Given the description of an element on the screen output the (x, y) to click on. 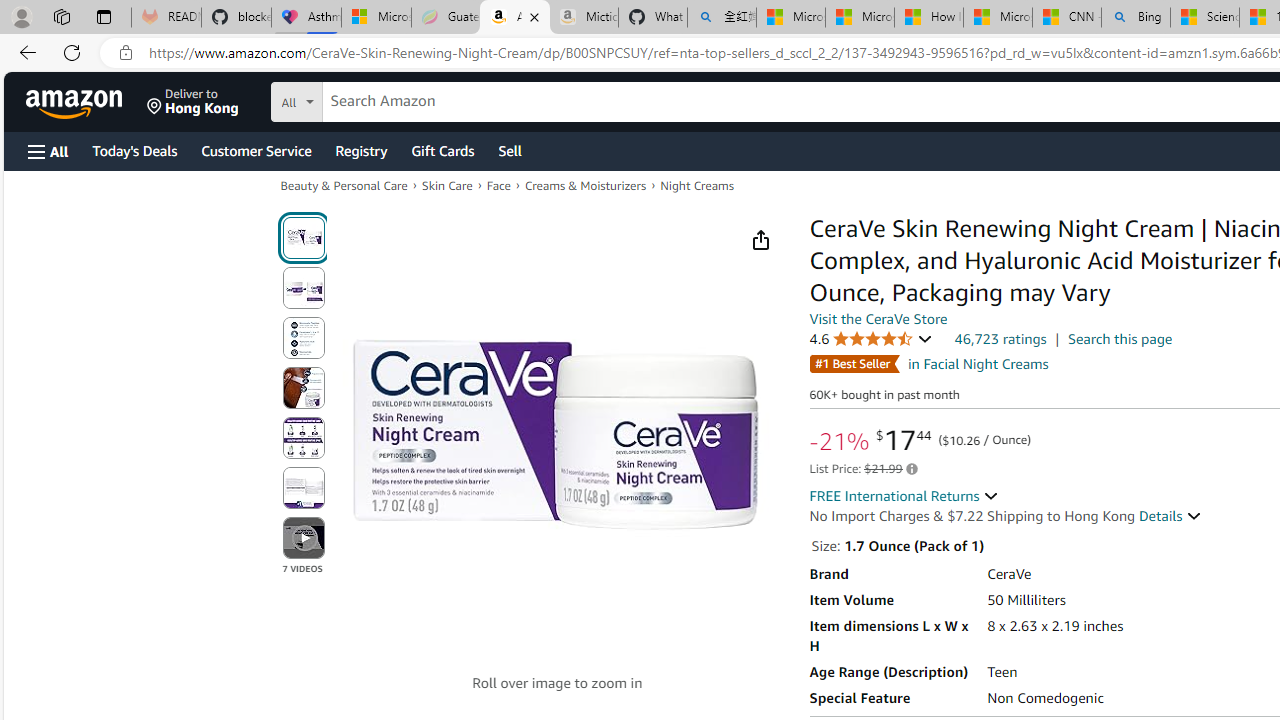
Face (498, 184)
FREE International Returns  (903, 496)
Deliver to Hong Kong (193, 101)
Face (498, 185)
Registry (360, 150)
Details  (1170, 516)
Science - MSN (1205, 17)
How I Got Rid of Microsoft Edge's Unnecessary Features (928, 17)
Bing (1135, 17)
